Given the description of an element on the screen output the (x, y) to click on. 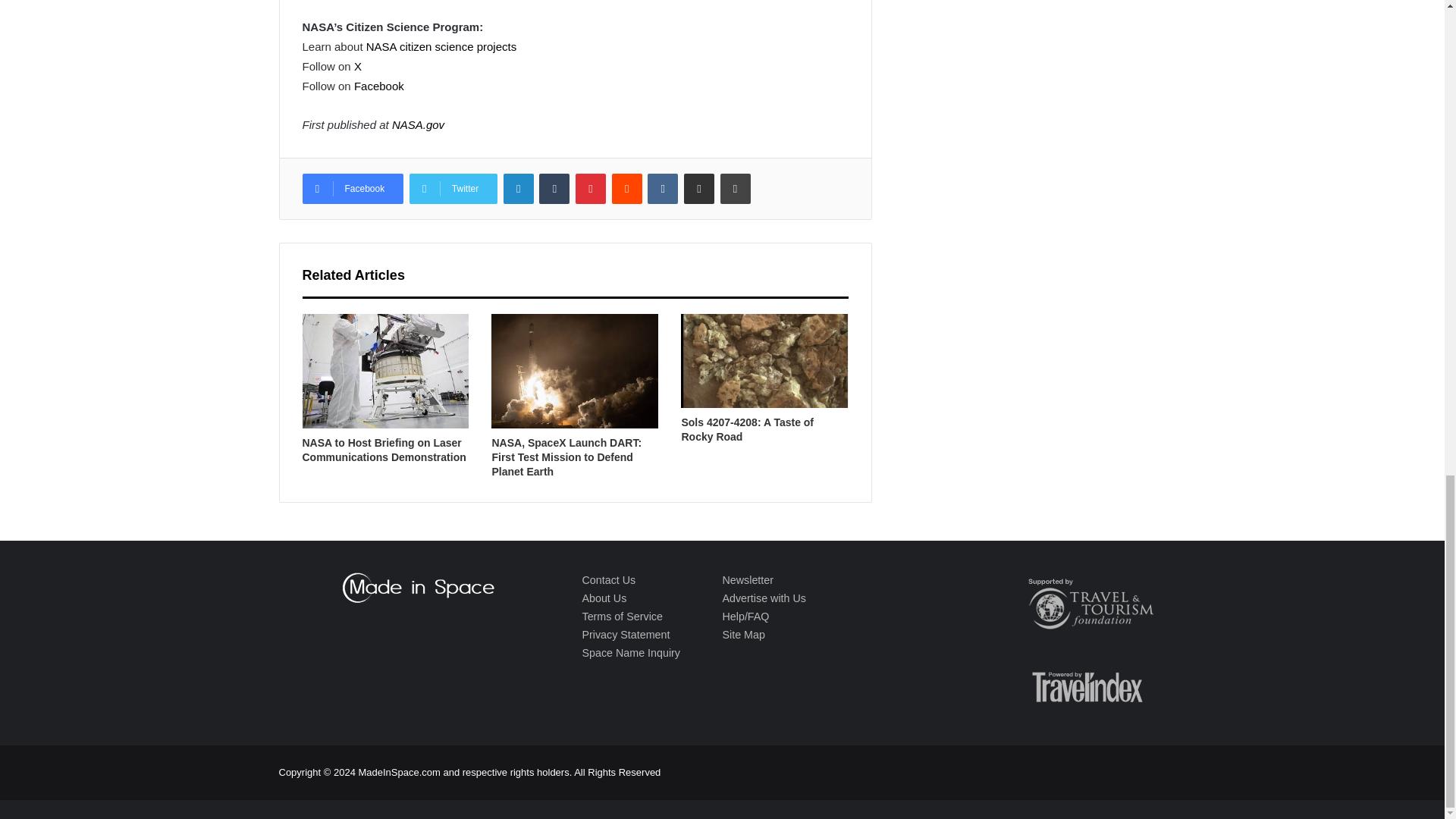
VKontakte (662, 188)
Facebook (352, 188)
Sols 4207-4208: A Taste of Rocky Road (747, 429)
NASA citizen science projects (441, 46)
Share via Email (699, 188)
Print (735, 188)
LinkedIn (518, 188)
Reddit (626, 188)
Pinterest (590, 188)
VKontakte (662, 188)
